Given the description of an element on the screen output the (x, y) to click on. 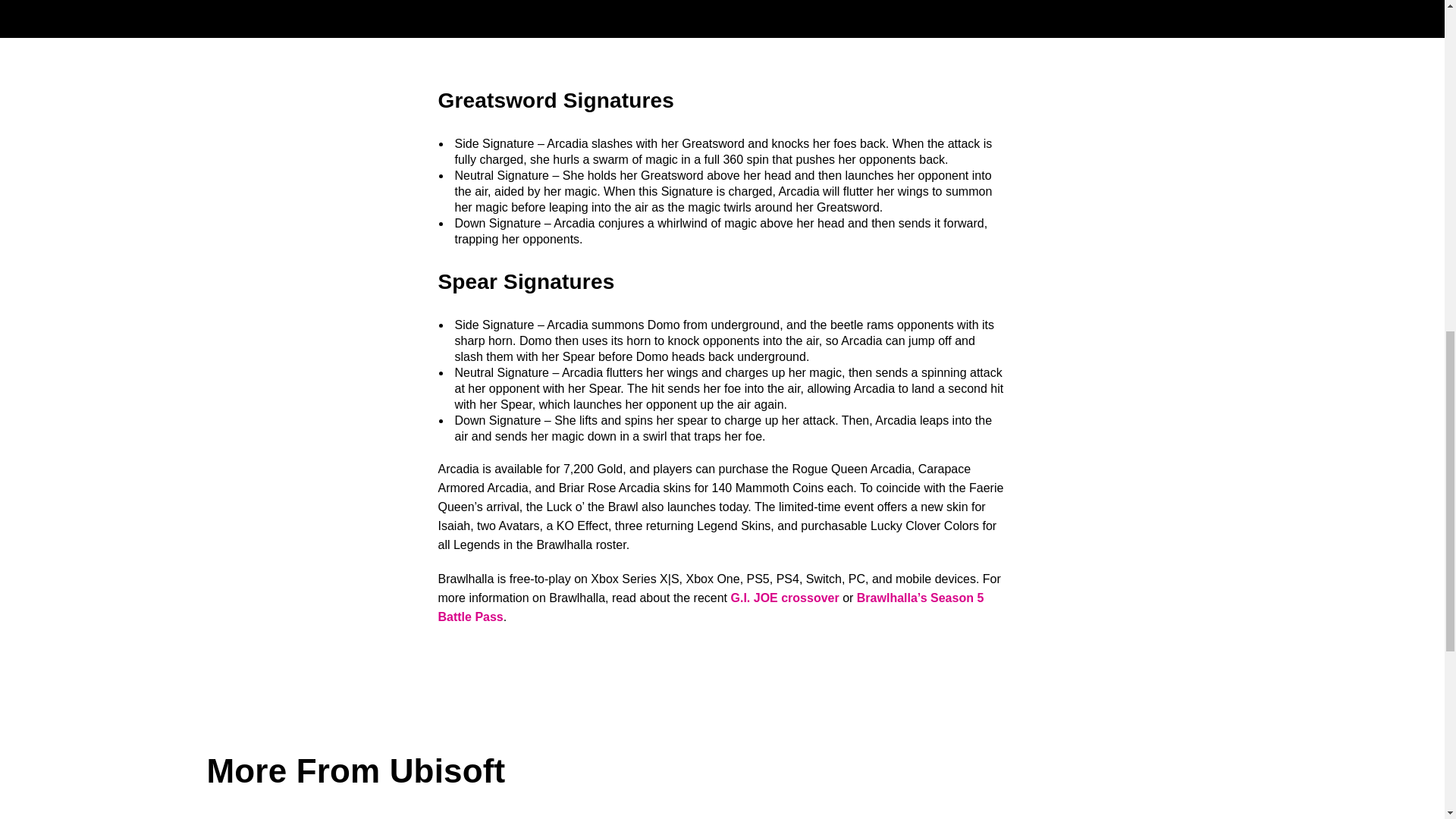
G.I. JOE crossover (785, 597)
